Given the description of an element on the screen output the (x, y) to click on. 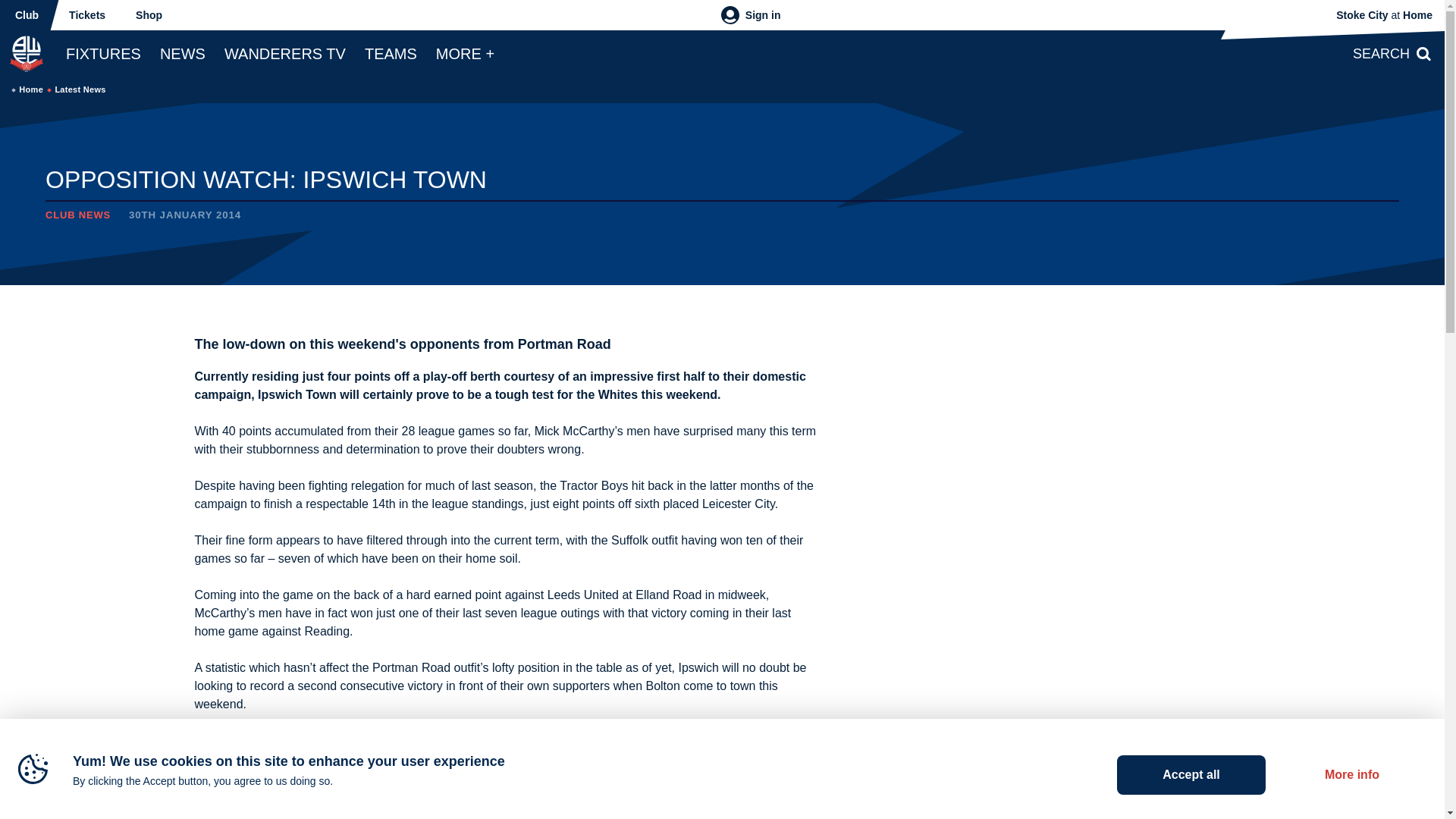
NEWS (182, 53)
Club (26, 15)
Shop (148, 15)
News (182, 53)
Tickets (86, 15)
Fixtures (103, 53)
Back to home (25, 53)
FIXTURES (103, 53)
WANDERERS TV (285, 53)
Sign in (750, 15)
